Given the description of an element on the screen output the (x, y) to click on. 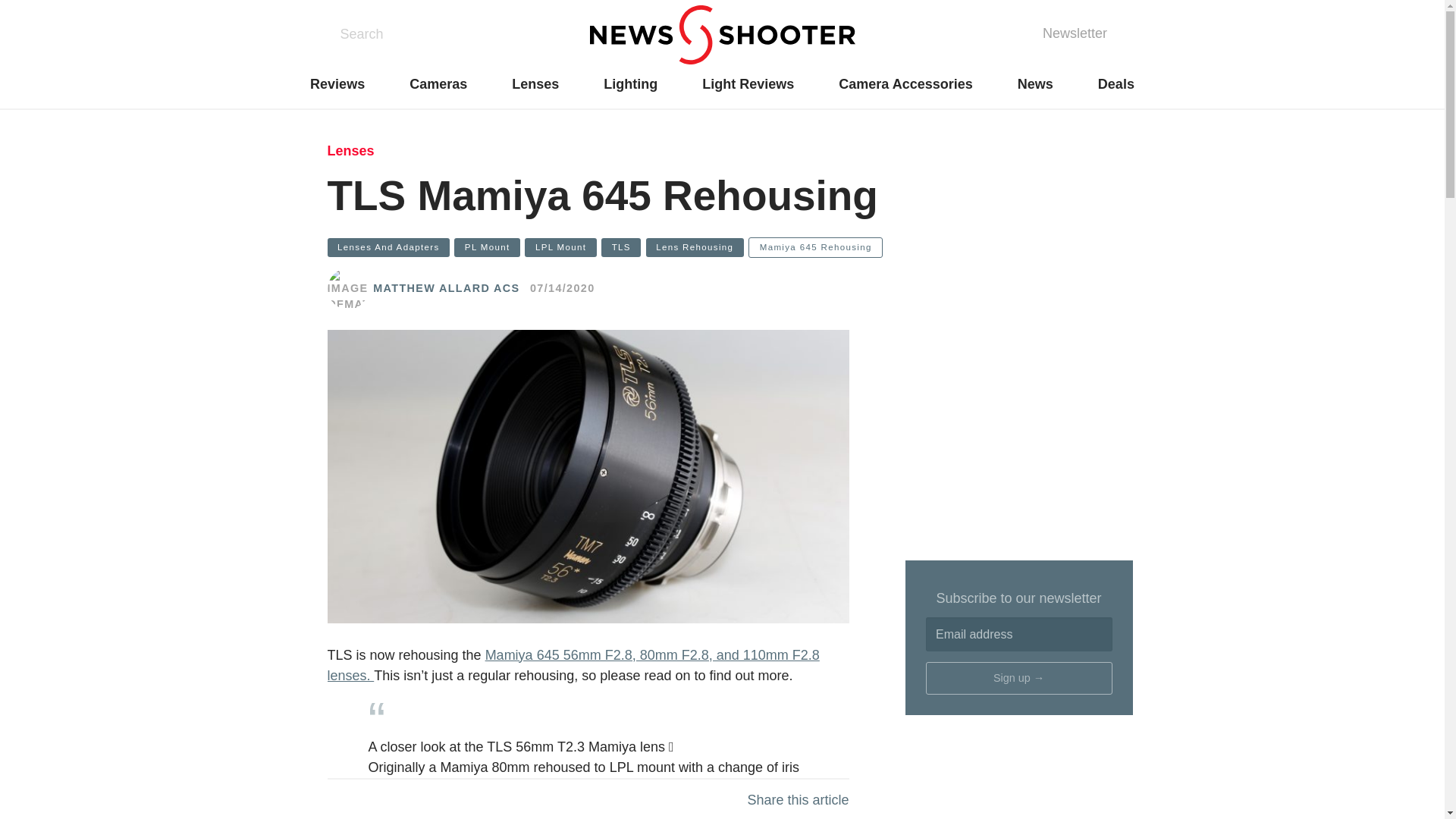
PL Mount (486, 247)
Deals (1115, 84)
Lenses And Adapters (388, 247)
Mamiya 645 56mm F2.8, 80mm F2.8, and 110mm F2.8 lenses. (573, 665)
LPL Mount (559, 247)
Cameras (438, 84)
Lens Rehousing (695, 247)
Lighting (631, 84)
Camera Accessories (905, 84)
TLS (620, 247)
MATTHEW ALLARD ACS (445, 288)
Reviews (337, 84)
Lenses (350, 150)
